Given the description of an element on the screen output the (x, y) to click on. 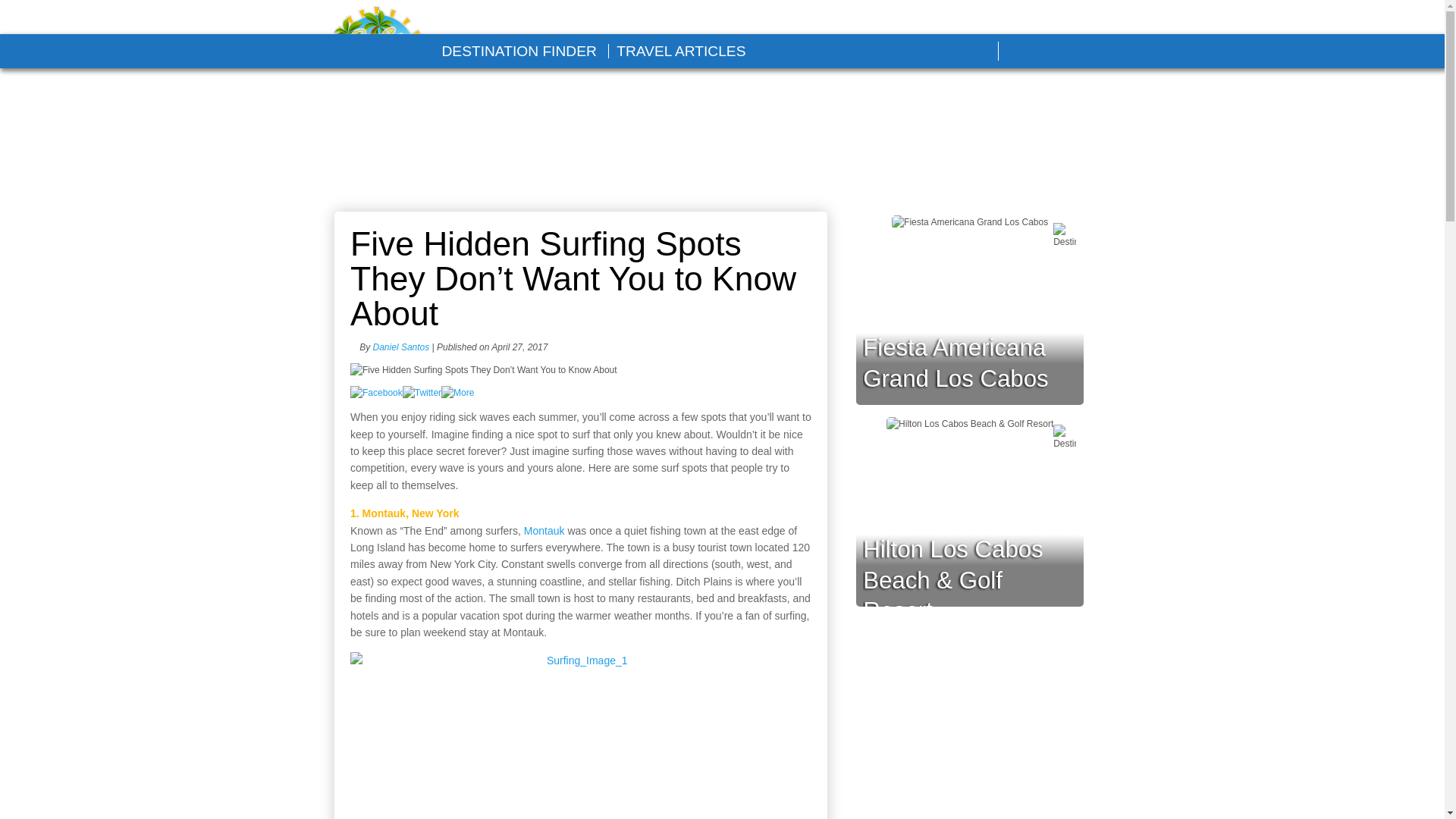
Instagram (1096, 51)
Fiesta Americana Grand Los Cabos (955, 363)
Destination Finder (518, 50)
Fiesta Americana Grand Los Cabos (955, 363)
TRAVEL ARTICLES (680, 50)
Facebook (1026, 51)
1. Montauk, New York (404, 512)
Montauk (544, 530)
DESTINATION FINDER (518, 50)
SunCity Paradise (376, 53)
Daniel Santos (400, 347)
Twitter (1061, 51)
Daniel Santos (400, 347)
Travel Articles (680, 50)
